Given the description of an element on the screen output the (x, y) to click on. 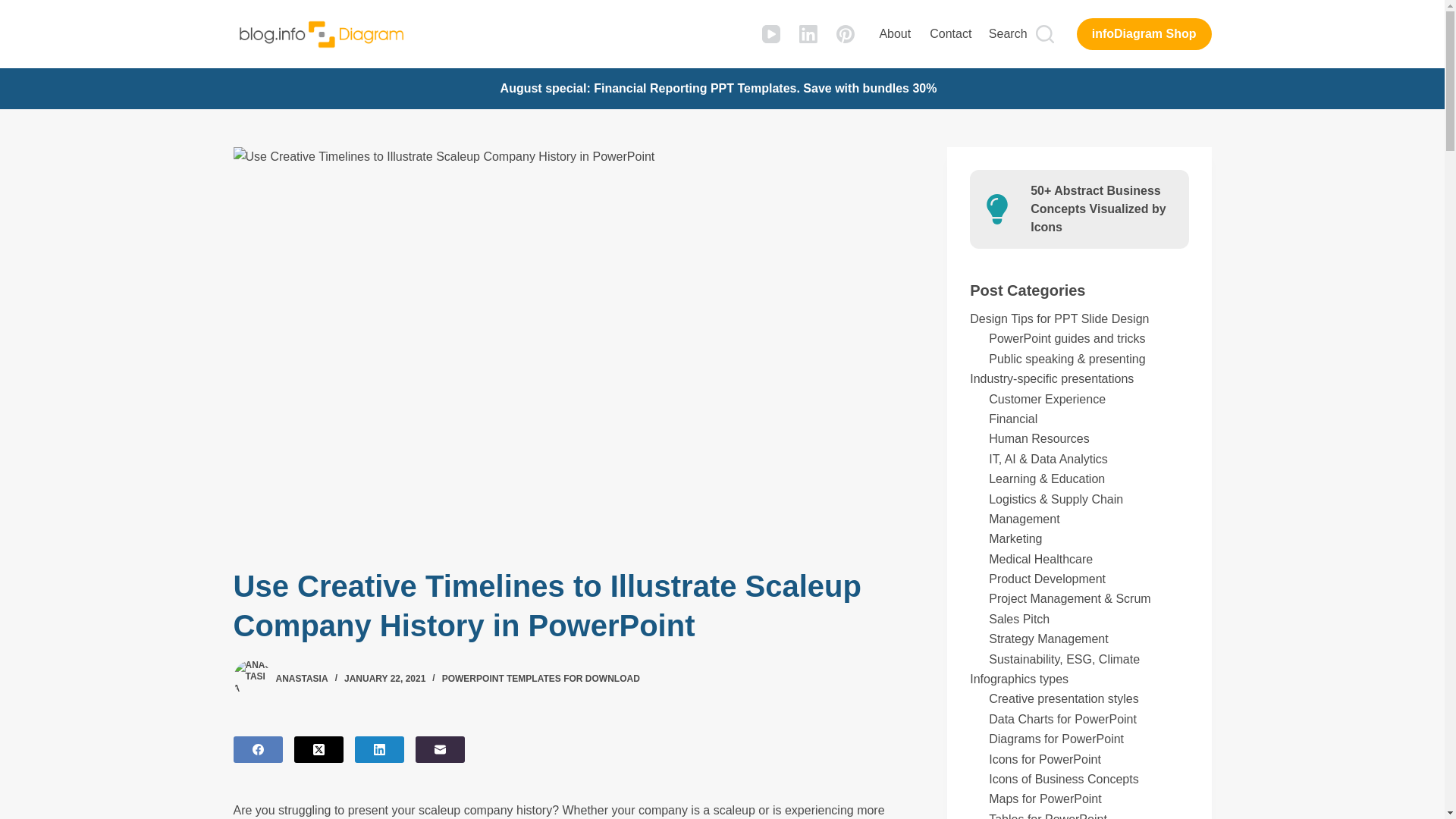
POWERPOINT TEMPLATES FOR DOWNLOAD (541, 678)
Contact (950, 33)
infoDiagram Shop (1144, 33)
ANASTASIA (302, 678)
Search (1021, 34)
Posts by Anastasia (302, 678)
Skip to content (15, 7)
